Given the description of an element on the screen output the (x, y) to click on. 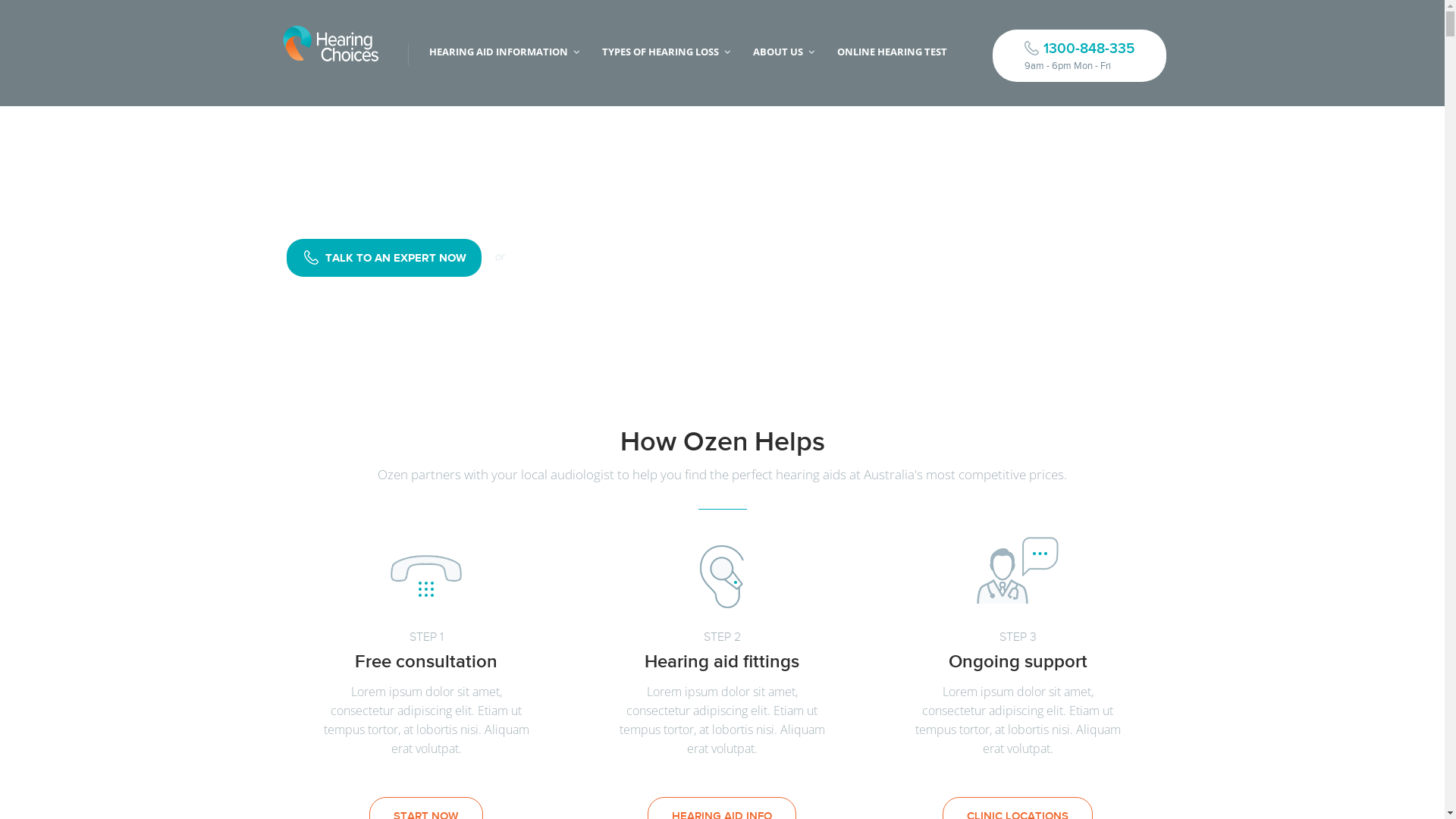
ONLINE HEARING TEST Element type: text (892, 51)
ABOUT US Element type: text (779, 51)
TYPES OF HEARING LOSS Element type: text (661, 51)
1300-848-335 Element type: text (1078, 56)
HEARING AID INFORMATION Element type: text (500, 51)
TALK TO AN EXPERT NOW Element type: text (383, 257)
